Given the description of an element on the screen output the (x, y) to click on. 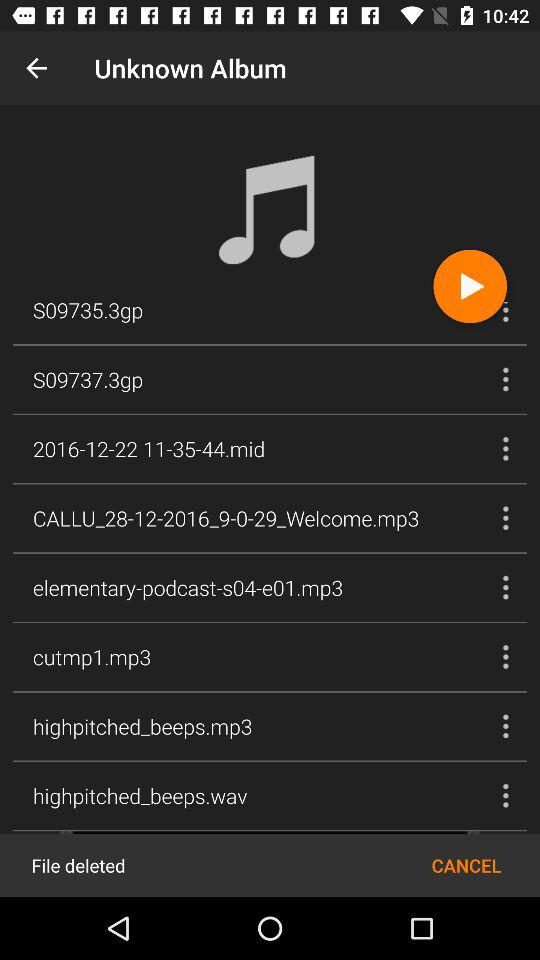
open the icon next to the s09735.3gp item (470, 286)
